Given the description of an element on the screen output the (x, y) to click on. 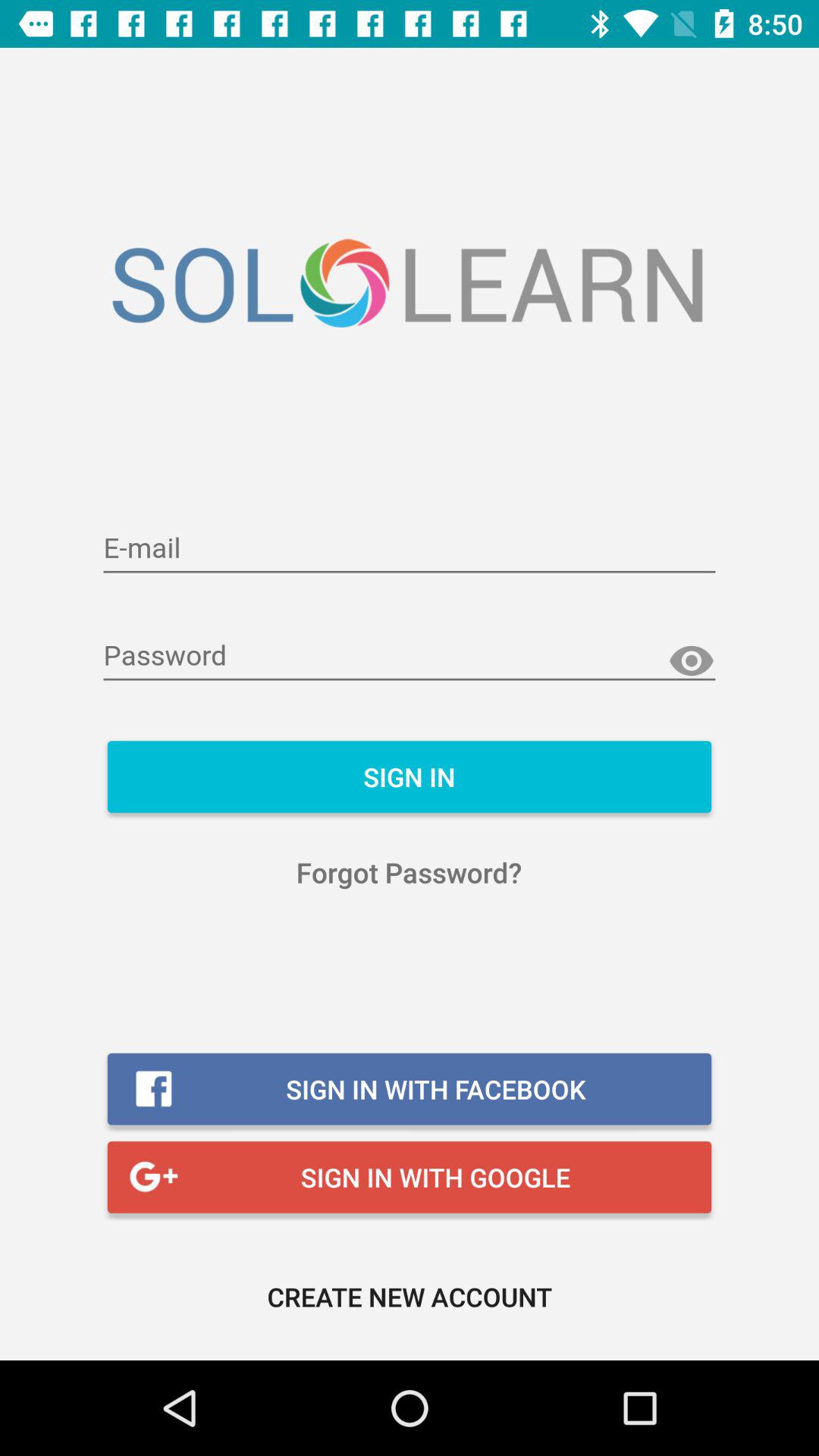
enter your password (409, 656)
